Given the description of an element on the screen output the (x, y) to click on. 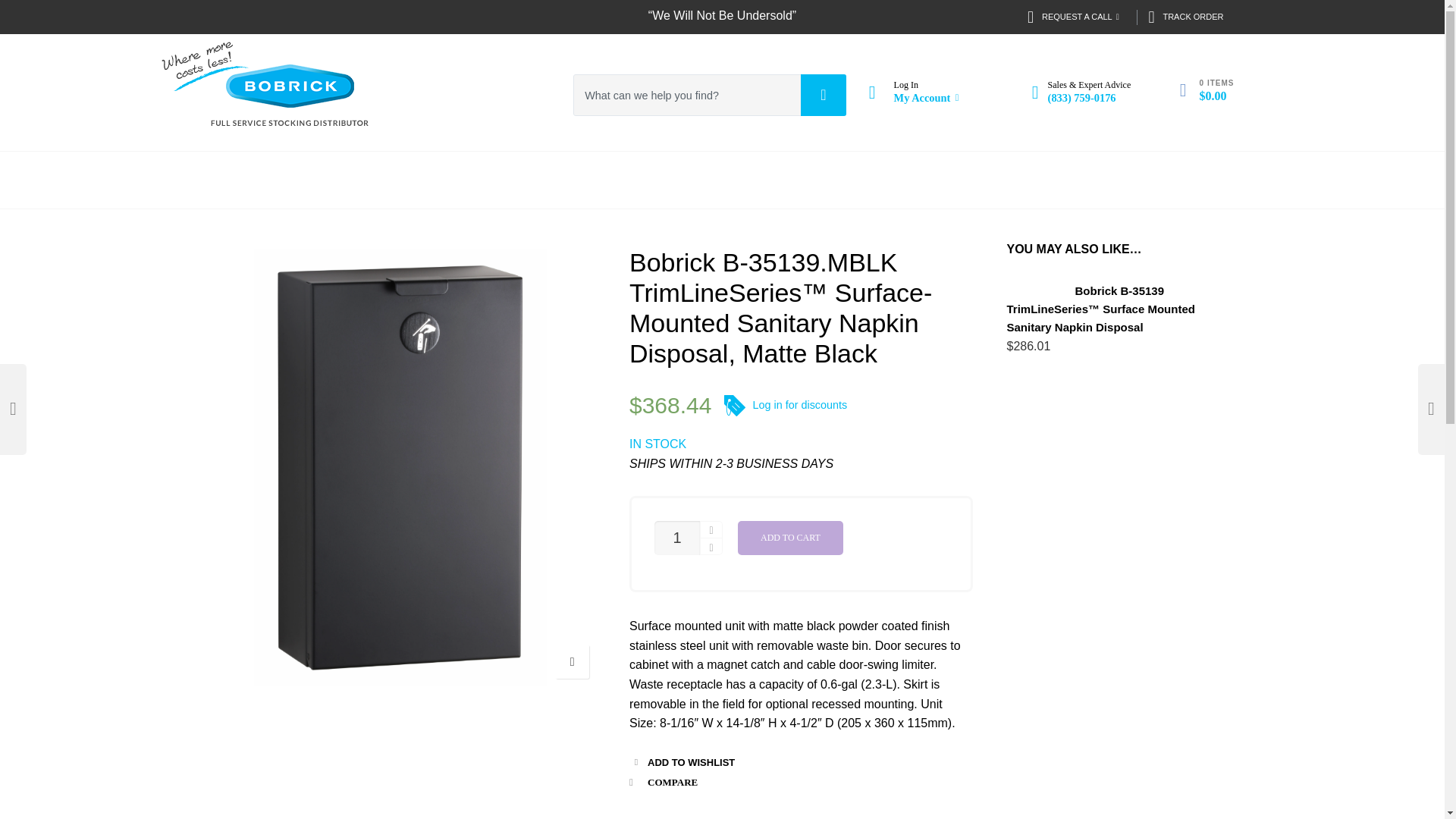
Discounted Bobrick Washroom Equipment (289, 95)
Log In (905, 84)
Call me! (889, 376)
HOME (260, 179)
SHOP ALL PRODUCTS (437, 179)
Search (822, 95)
SHOP BY SERIES (647, 179)
1 (676, 537)
REQUEST A CALL (1076, 17)
TRACK ORDER (1185, 17)
